Given the description of an element on the screen output the (x, y) to click on. 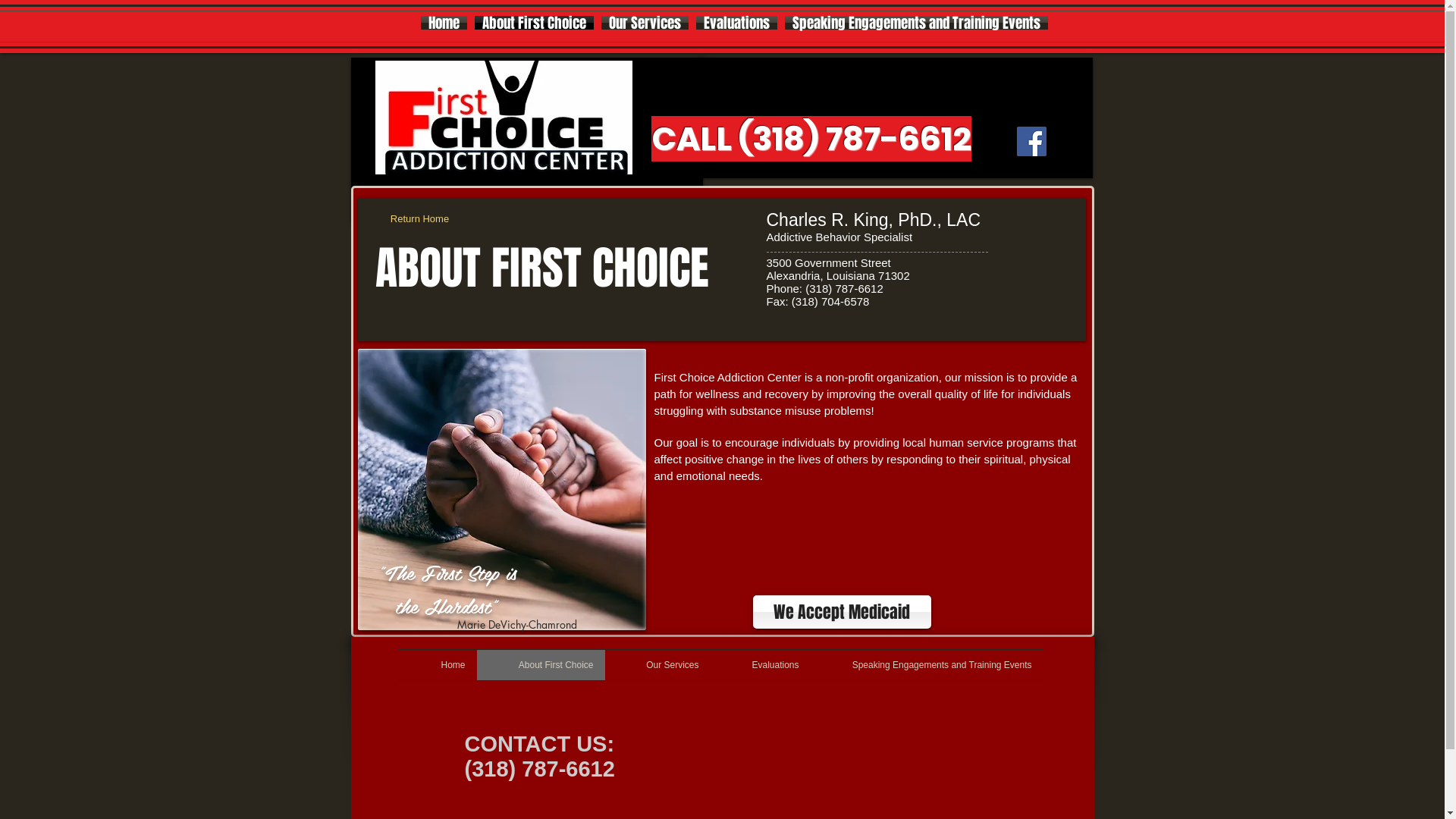
Our Services Element type: text (657, 664)
Return Home Element type: text (419, 218)
Evaluations Element type: text (735, 22)
About First Choice Element type: text (540, 664)
Home Element type: text (443, 22)
Home Element type: text (437, 664)
Speaking Engagements and Training Events Element type: text (916, 22)
Speaking Engagements and Training Events Element type: text (925, 664)
Wix Weather Element type: hover (994, 81)
Evaluations Element type: text (759, 664)
Our Services Element type: text (644, 22)
About First Choice Element type: text (533, 22)
